Given the description of an element on the screen output the (x, y) to click on. 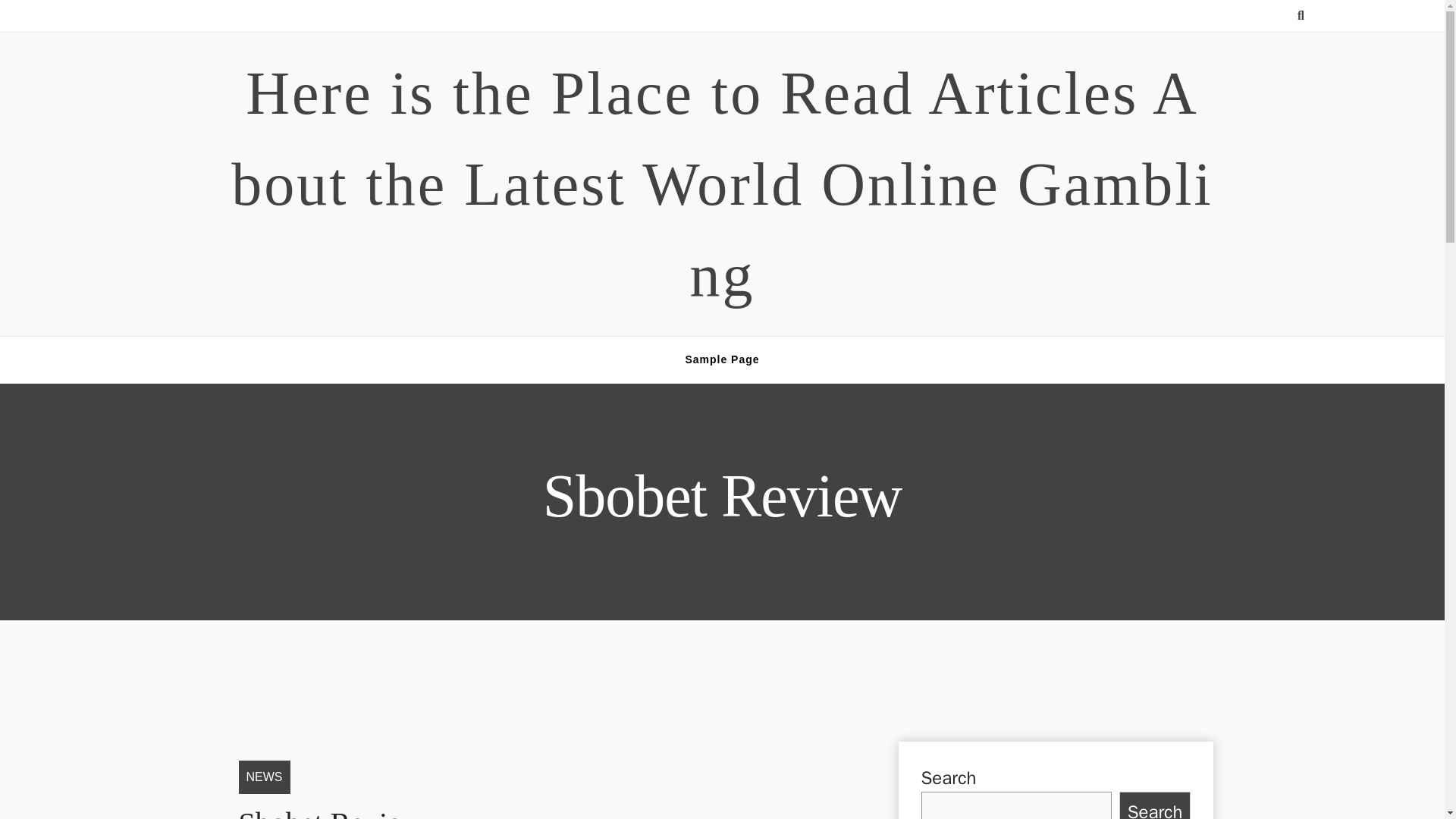
Sample Page (721, 359)
Search (1155, 805)
NEWS (263, 776)
